Given the description of an element on the screen output the (x, y) to click on. 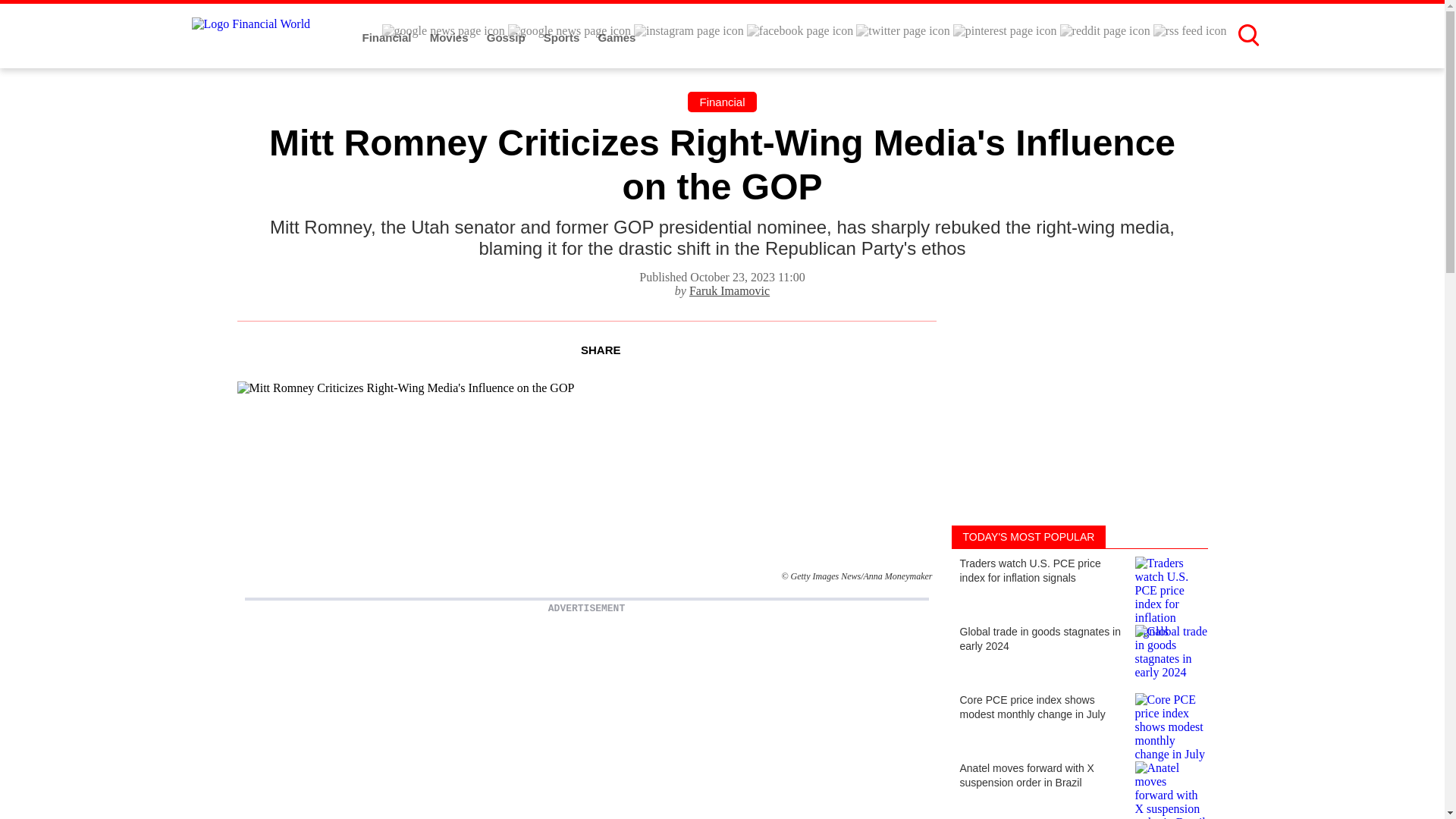
Games (615, 37)
Faruk Imamovic (729, 290)
Sports (563, 37)
Core PCE price index shows modest monthly change in July (1078, 719)
Movies (450, 37)
Traders watch U.S. PCE price index for inflation signals (1078, 582)
Financial (721, 101)
Gossip (507, 37)
Financial (388, 37)
Global trade in goods stagnates in early 2024 (1078, 651)
